Given the description of an element on the screen output the (x, y) to click on. 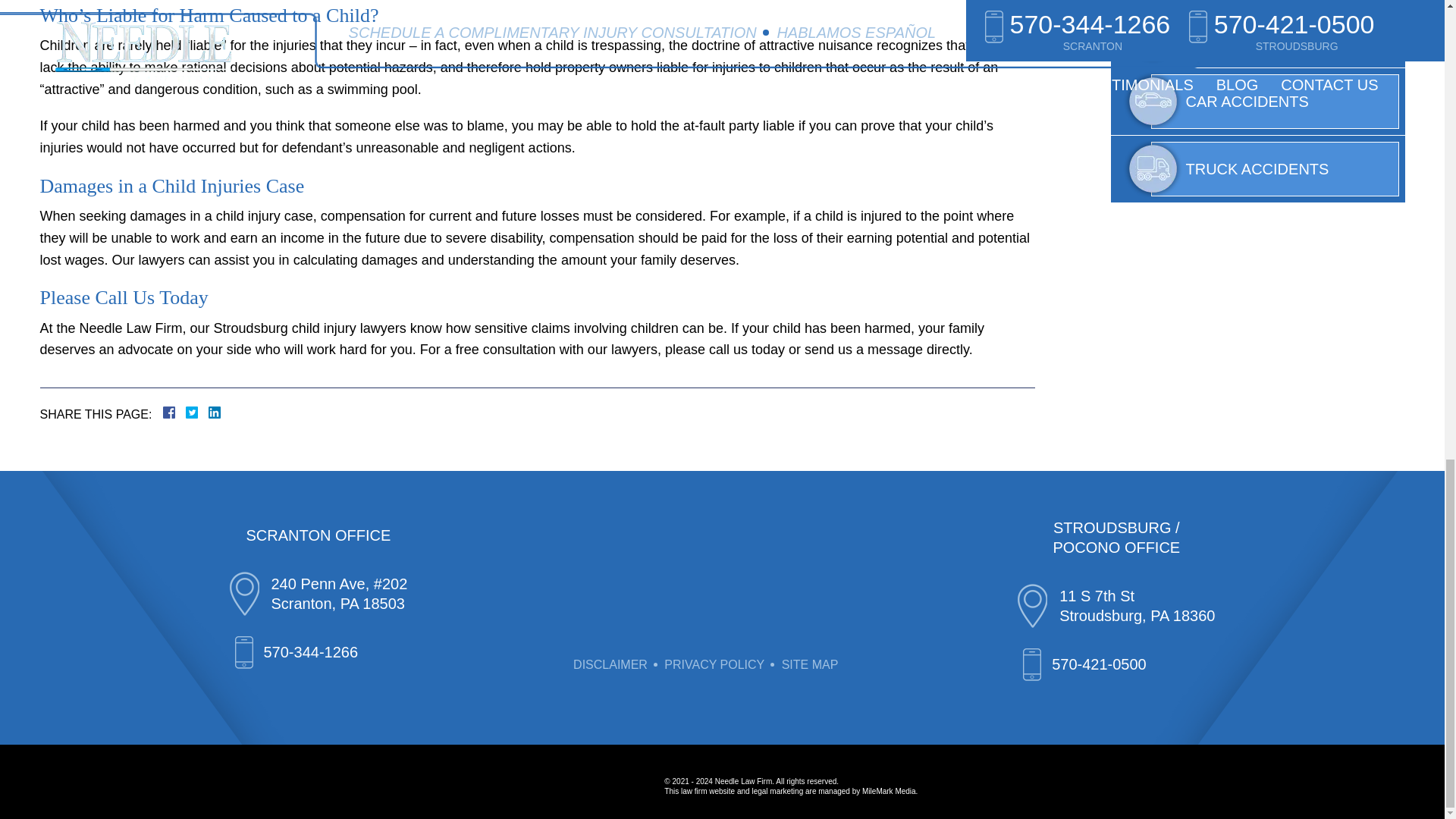
Twitter (197, 412)
Facebook (187, 412)
LinkedIn (208, 412)
